Given the description of an element on the screen output the (x, y) to click on. 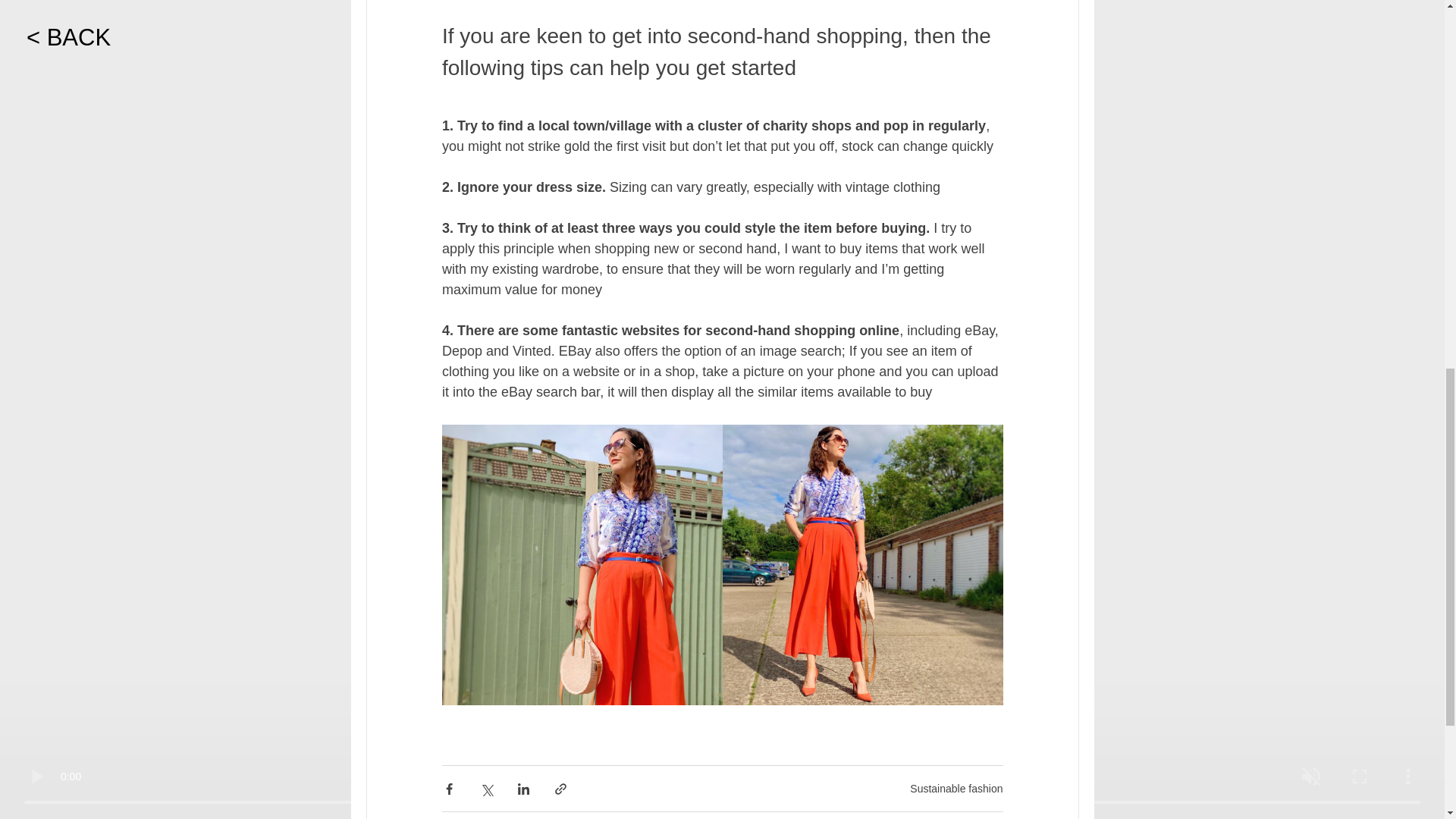
Sustainable fashion (956, 788)
